Given the description of an element on the screen output the (x, y) to click on. 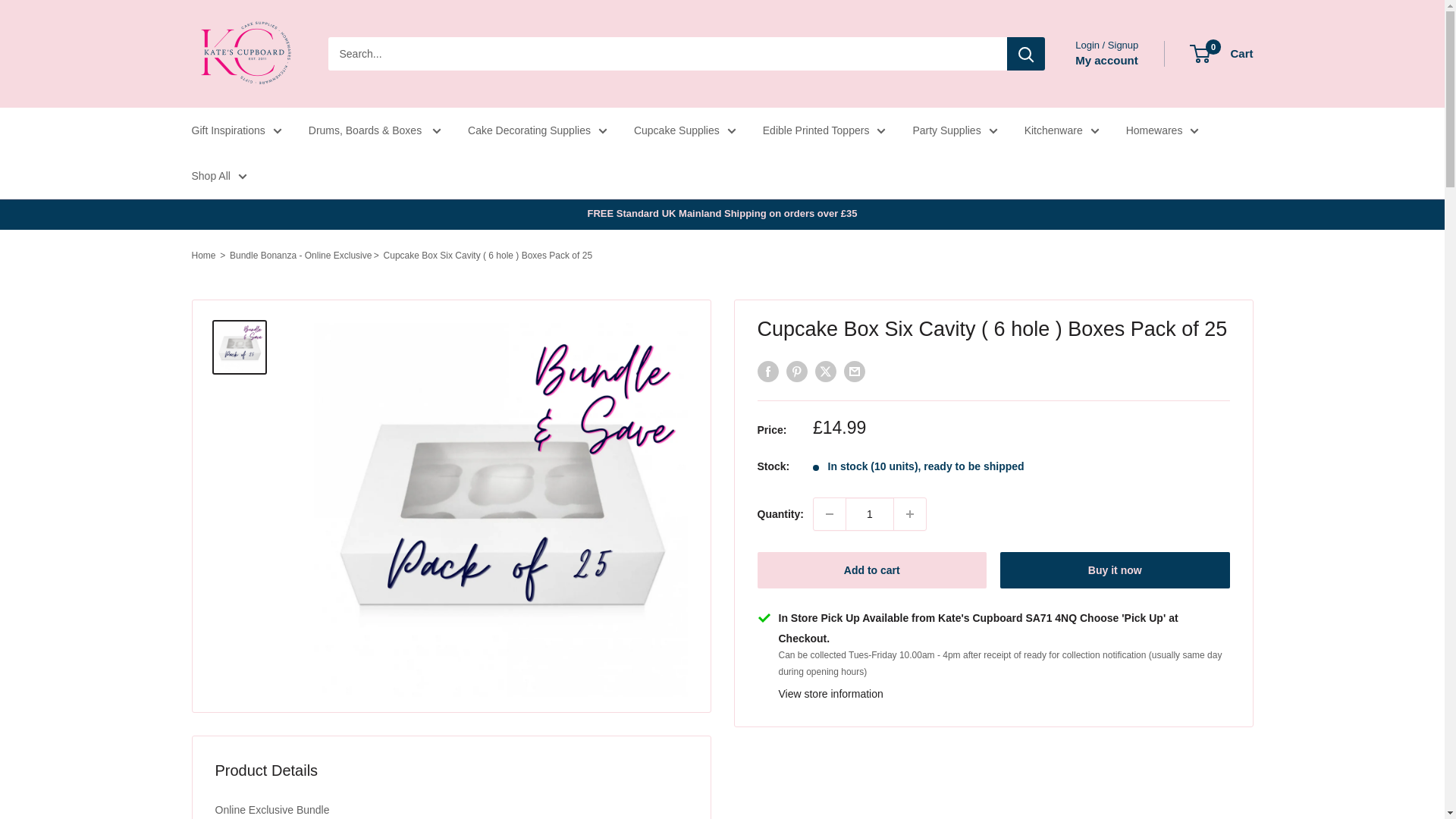
Increase quantity by 1 (909, 513)
Decrease quantity by 1 (829, 513)
1 (869, 513)
